Given the description of an element on the screen output the (x, y) to click on. 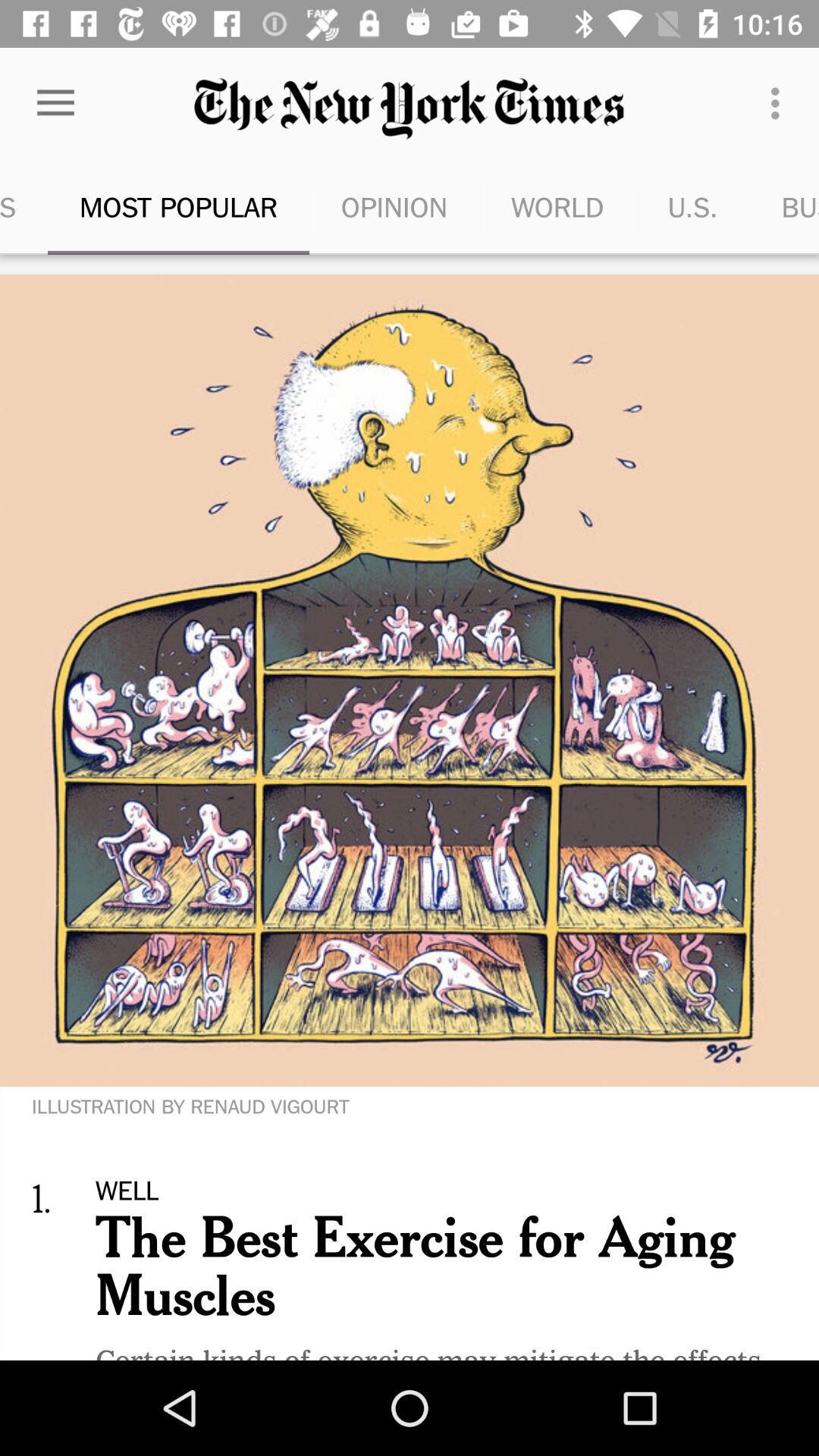
swipe until the top stories item (23, 206)
